Given the description of an element on the screen output the (x, y) to click on. 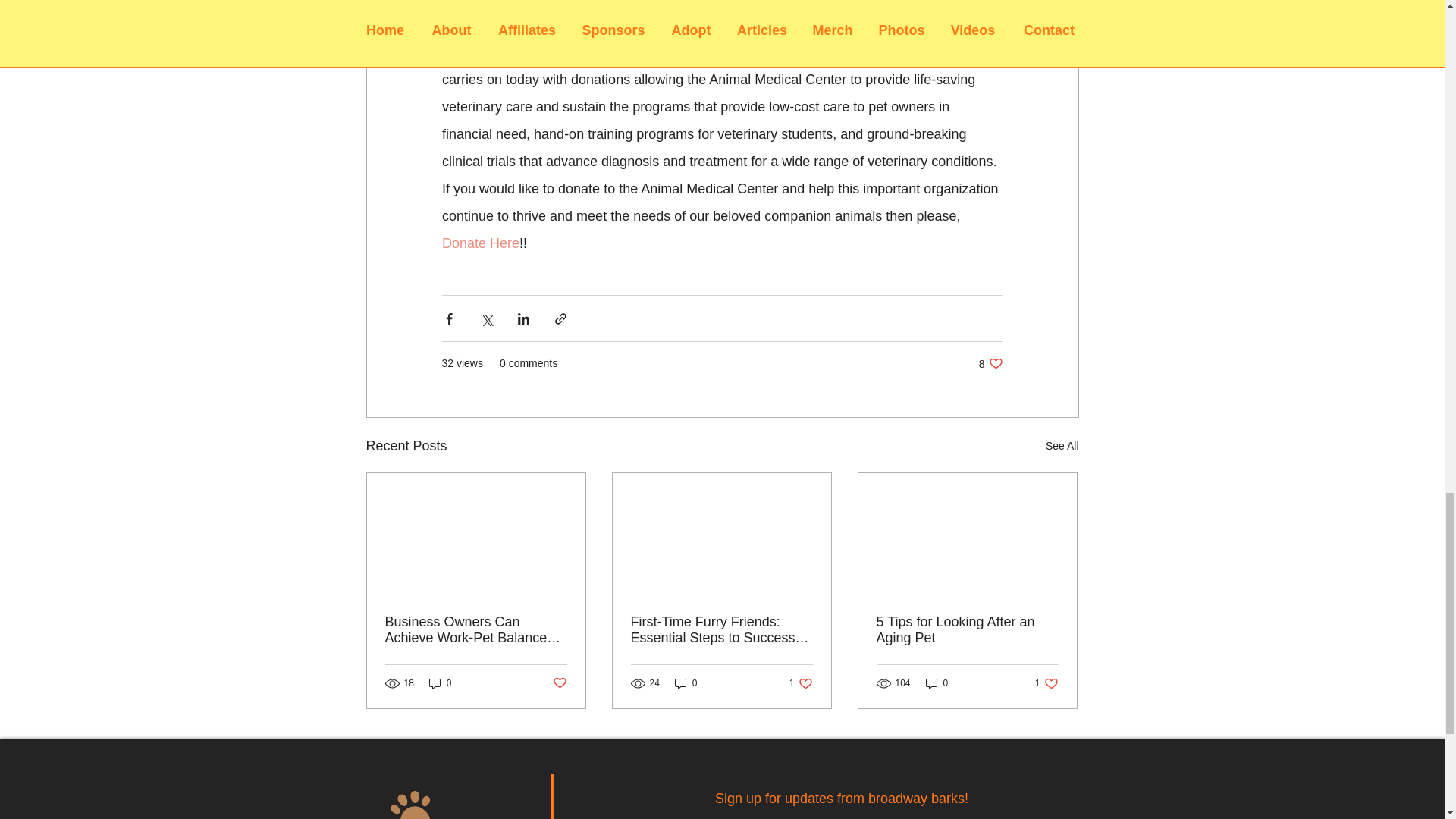
5 Tips for Looking After an Aging Pet (967, 630)
0 (440, 683)
Business Owners Can Achieve Work-Pet Balance With These Tips (990, 363)
Donate Here (800, 683)
Post not marked as liked (476, 630)
See All (479, 242)
